Given the description of an element on the screen output the (x, y) to click on. 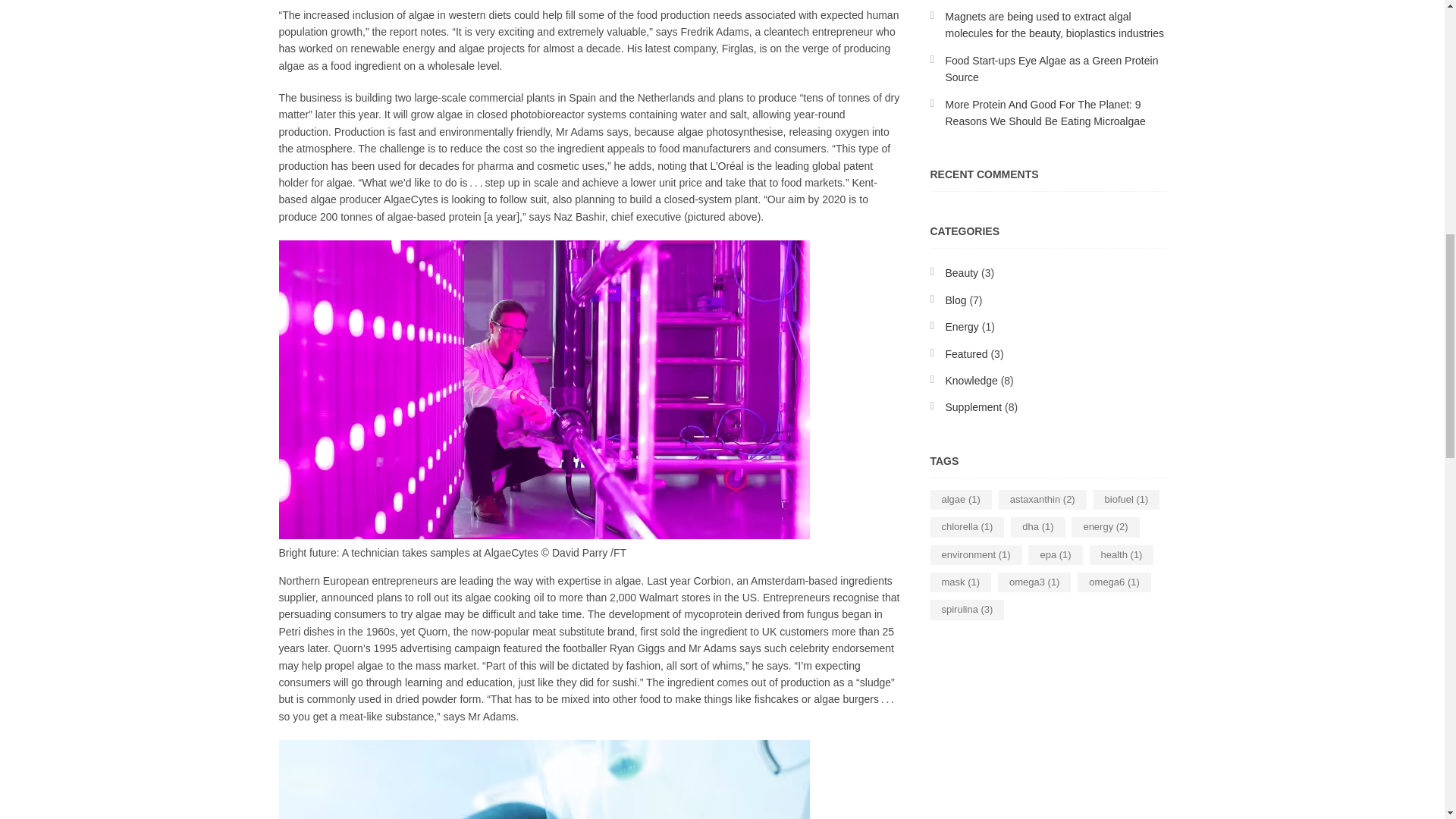
Food Start-ups Eye Algae as a Green Protein Source (1050, 68)
Featured (965, 354)
Energy (961, 326)
Supplement (972, 407)
Blog (955, 300)
Beauty (961, 272)
Knowledge (970, 380)
